Given the description of an element on the screen output the (x, y) to click on. 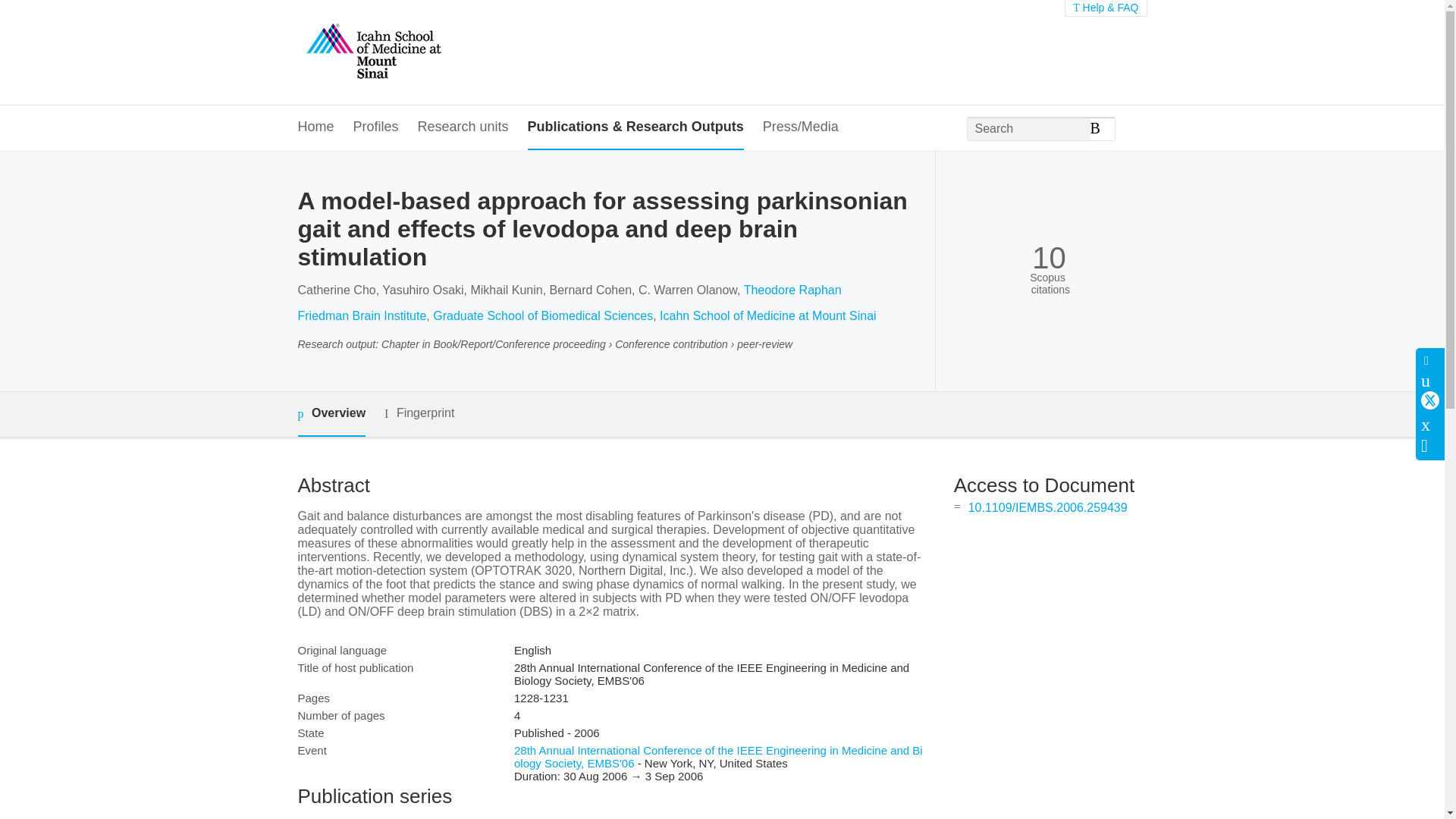
Profiles (375, 127)
Theodore Raphan (792, 289)
Research units (462, 127)
Overview (331, 414)
Friedman Brain Institute (361, 315)
Icahn School of Medicine at Mount Sinai (767, 315)
Graduate School of Biomedical Sciences (542, 315)
Icahn School of Medicine at Mount Sinai Home (372, 52)
